Given the description of an element on the screen output the (x, y) to click on. 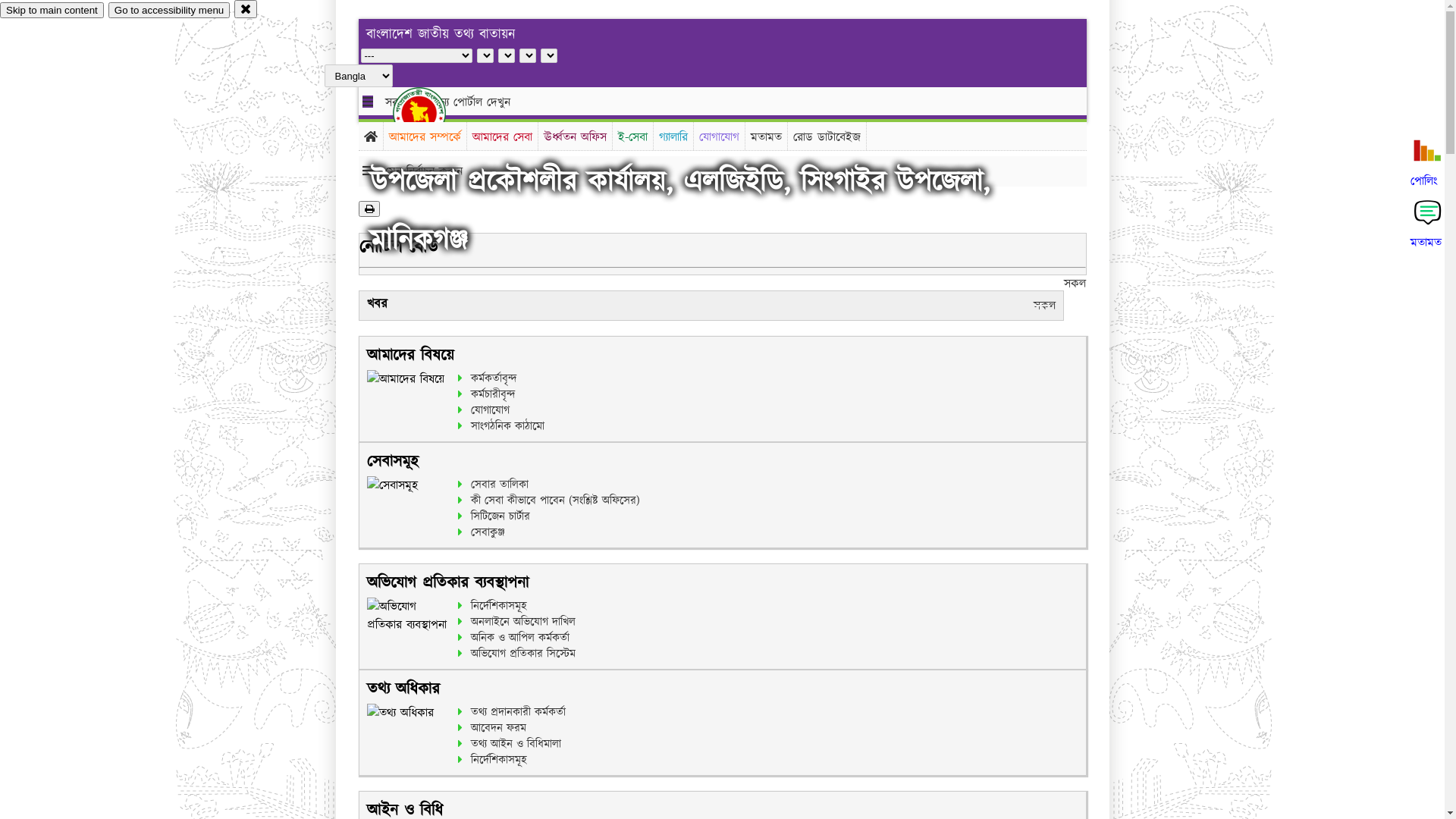
Skip to main content Element type: text (51, 10)

                
             Element type: hover (431, 112)
close Element type: hover (245, 9)
Go to accessibility menu Element type: text (168, 10)
